Given the description of an element on the screen output the (x, y) to click on. 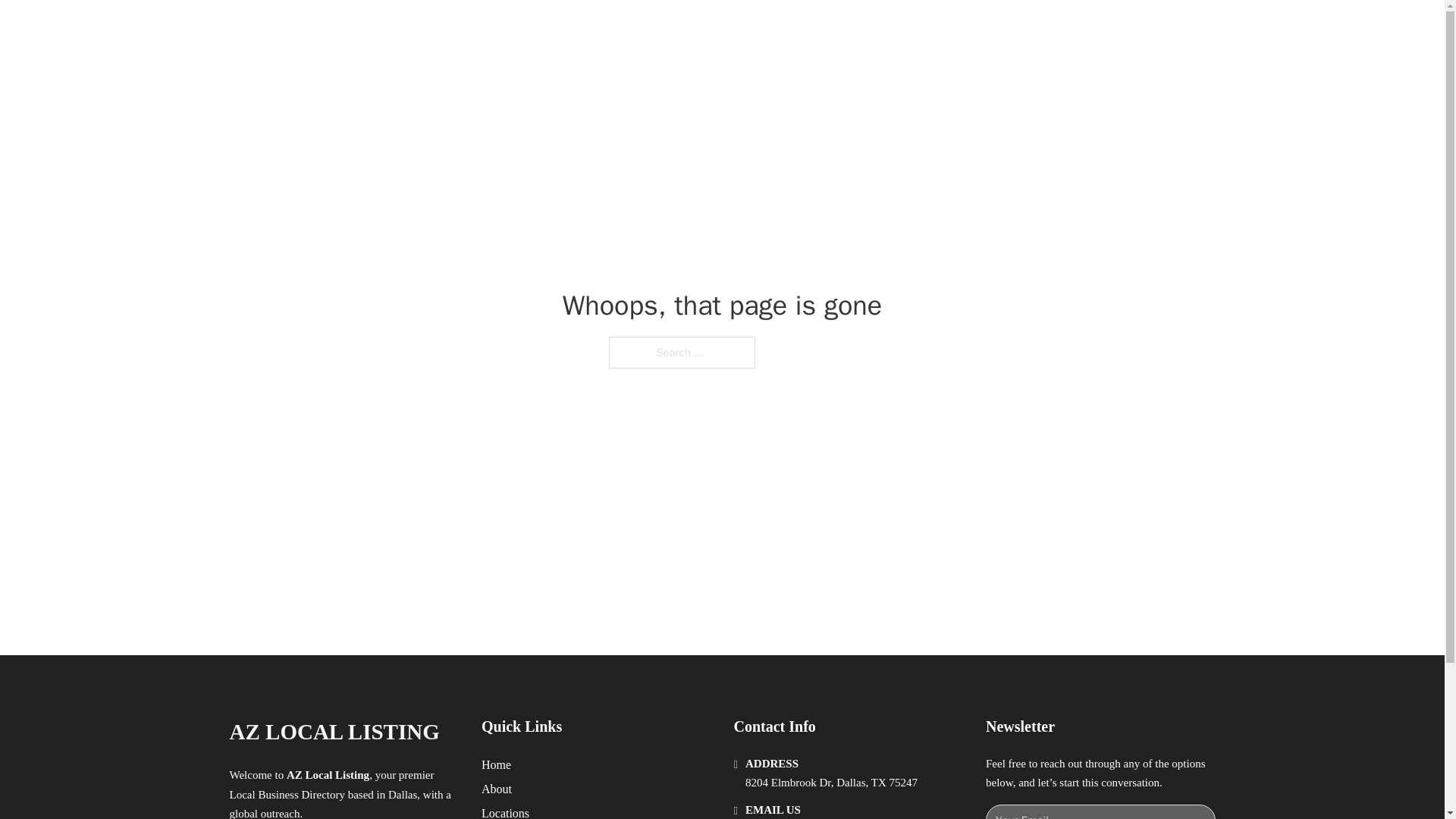
Locations (505, 811)
About (496, 788)
LOCATIONS (990, 29)
AZ LOCAL LISTING (333, 732)
AZ LOCAL LISTING (401, 28)
Home (496, 764)
HOME (919, 29)
